Given the description of an element on the screen output the (x, y) to click on. 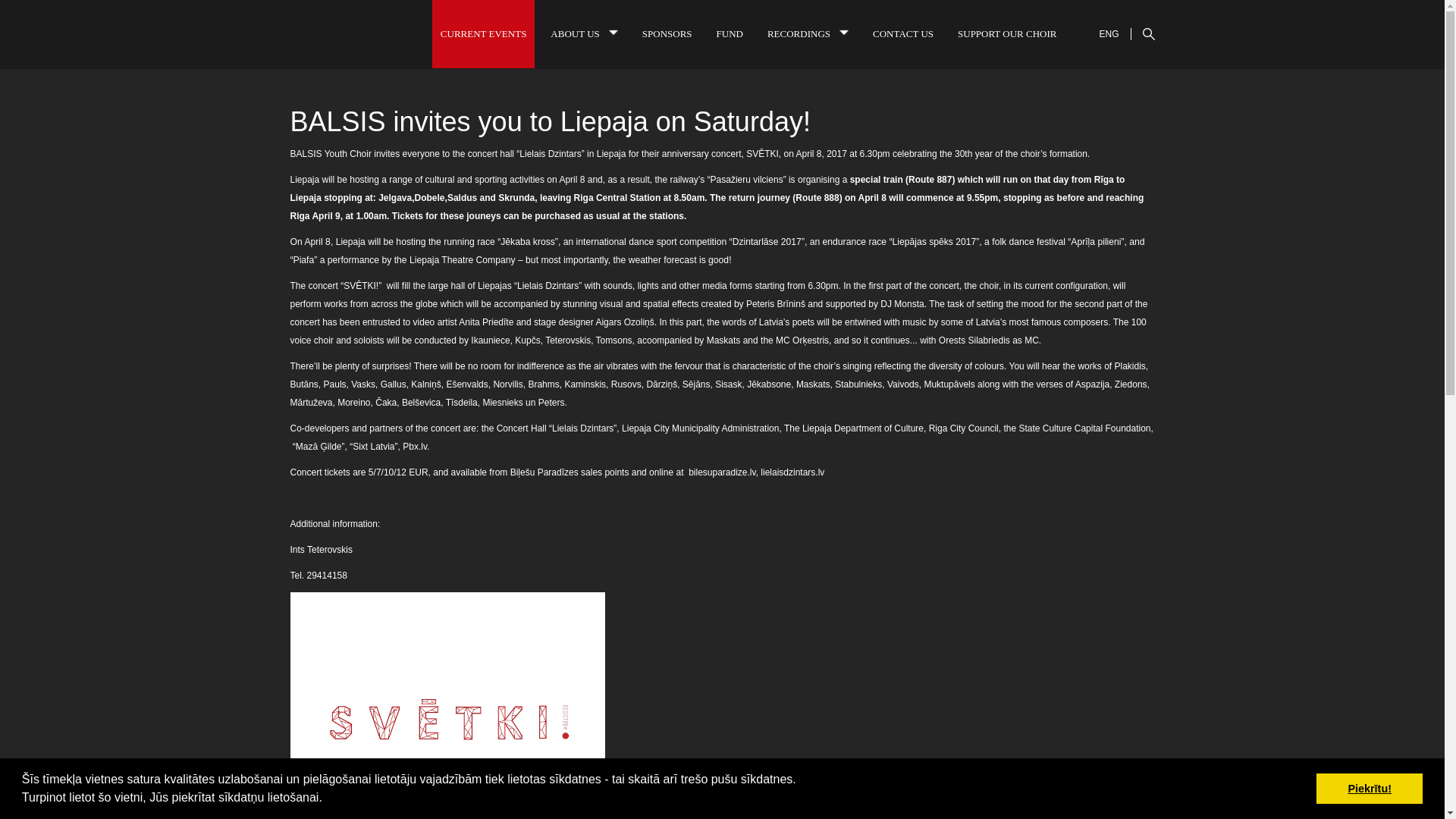
RECORDINGS (807, 33)
SUPPORT OUR CHOIR (1006, 33)
ENG (1108, 28)
CURRENT EVENTS (483, 33)
CONTACT US (903, 33)
SPONSORS (666, 33)
ABOUT US (583, 33)
ENG (1108, 33)
